Given the description of an element on the screen output the (x, y) to click on. 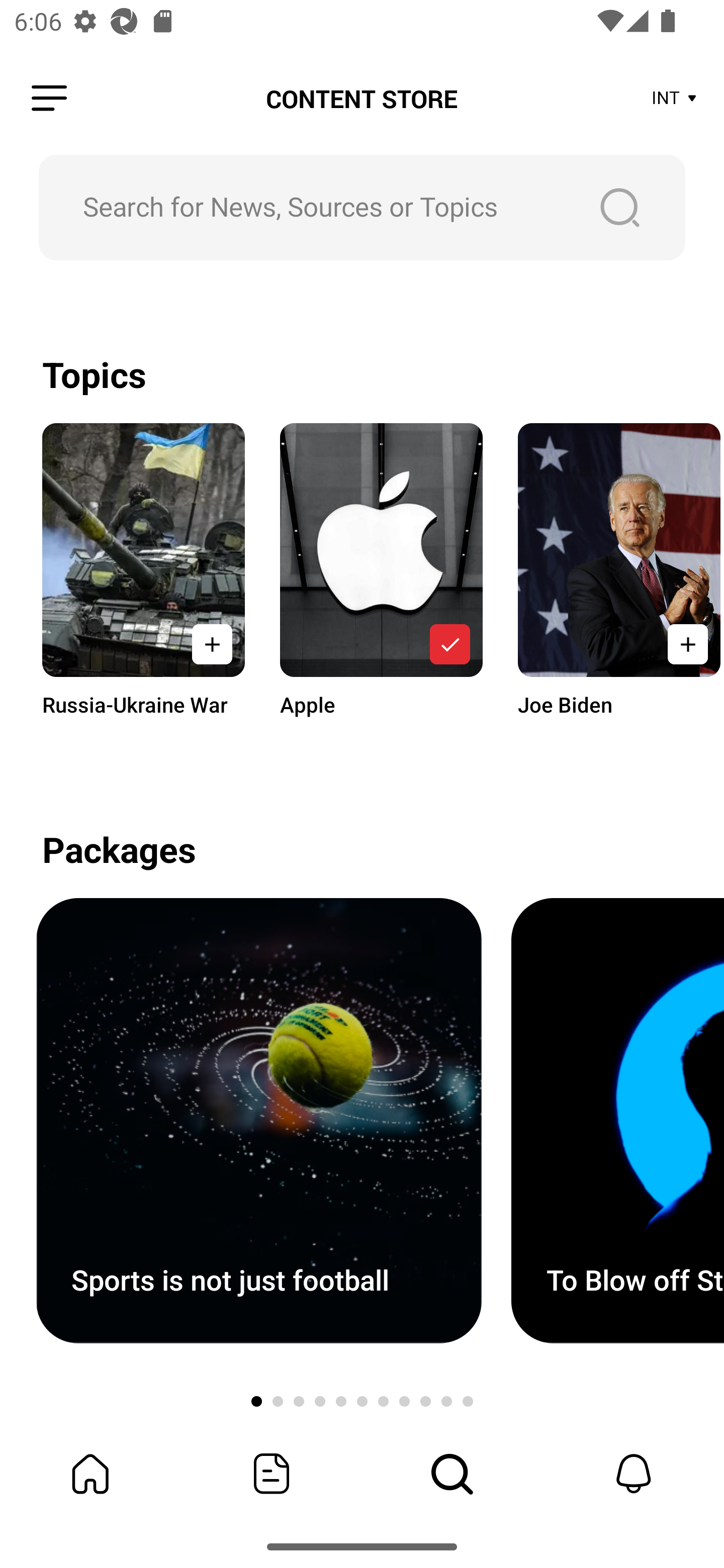
INT Store Area (674, 98)
Leading Icon (49, 98)
Search for News, Sources or Topics Search Button (361, 207)
Add To My Bundle (212, 644)
Add To My Bundle (449, 644)
Add To My Bundle (684, 644)
My Bundle (90, 1473)
Featured (271, 1473)
Notifications (633, 1473)
